Given the description of an element on the screen output the (x, y) to click on. 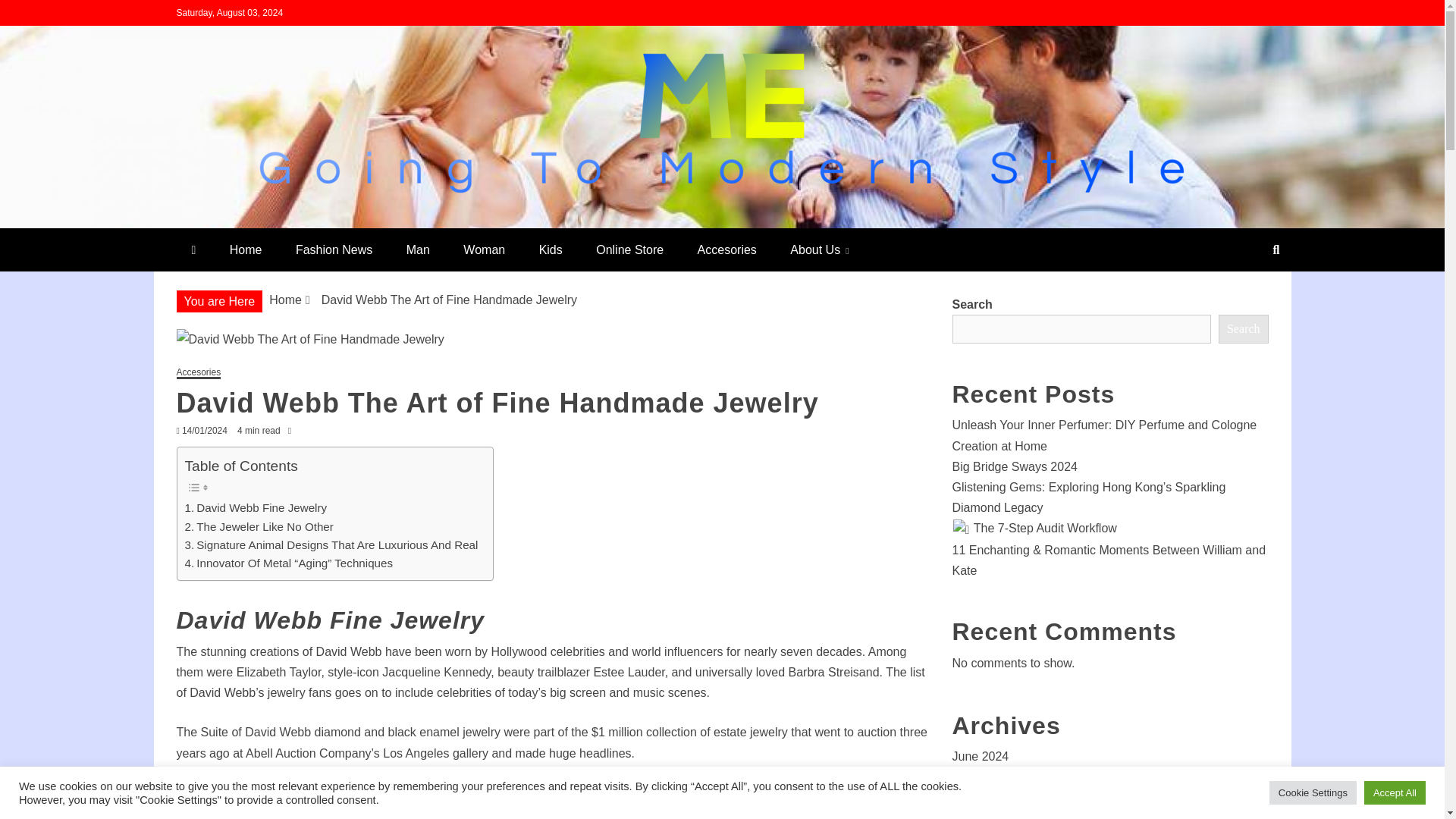
Man (418, 249)
Accesories (198, 373)
About Us (818, 249)
The Jeweler Like No Other (258, 526)
David Webb Fine Jewelry (255, 507)
My Style (234, 221)
David Webb Fine Jewelry (255, 507)
Accesories (726, 249)
Kids (551, 249)
David Webb The Art of Fine Handmade Jewelry (552, 339)
Signature Animal Designs That Are Luxurious And Real (331, 545)
The Jeweler Like No Other (258, 526)
Woman (483, 249)
Online Store (629, 249)
Search (31, 13)
